Given the description of an element on the screen output the (x, y) to click on. 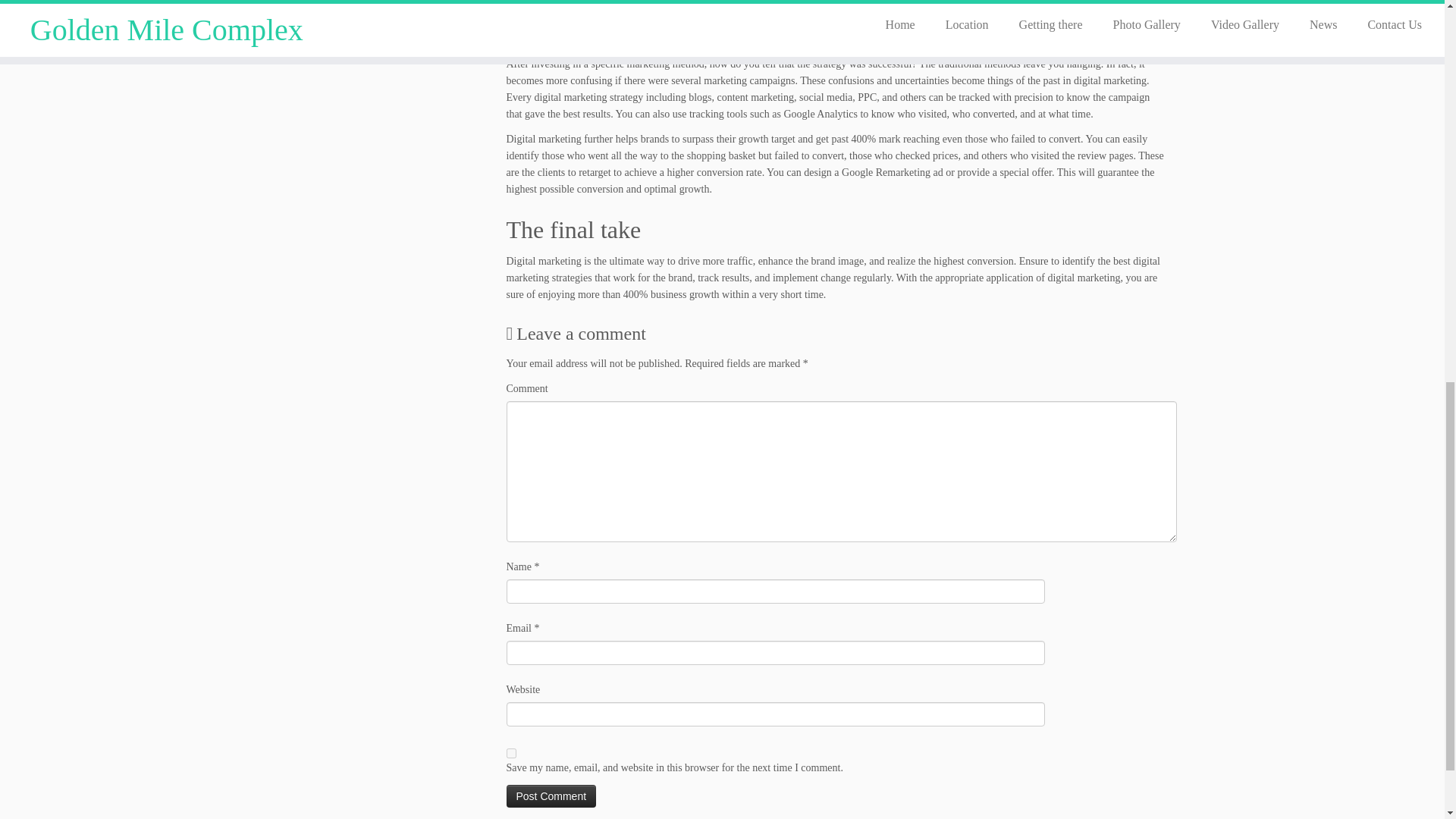
Post Comment (551, 795)
yes (511, 753)
Post Comment (551, 795)
